Given the description of an element on the screen output the (x, y) to click on. 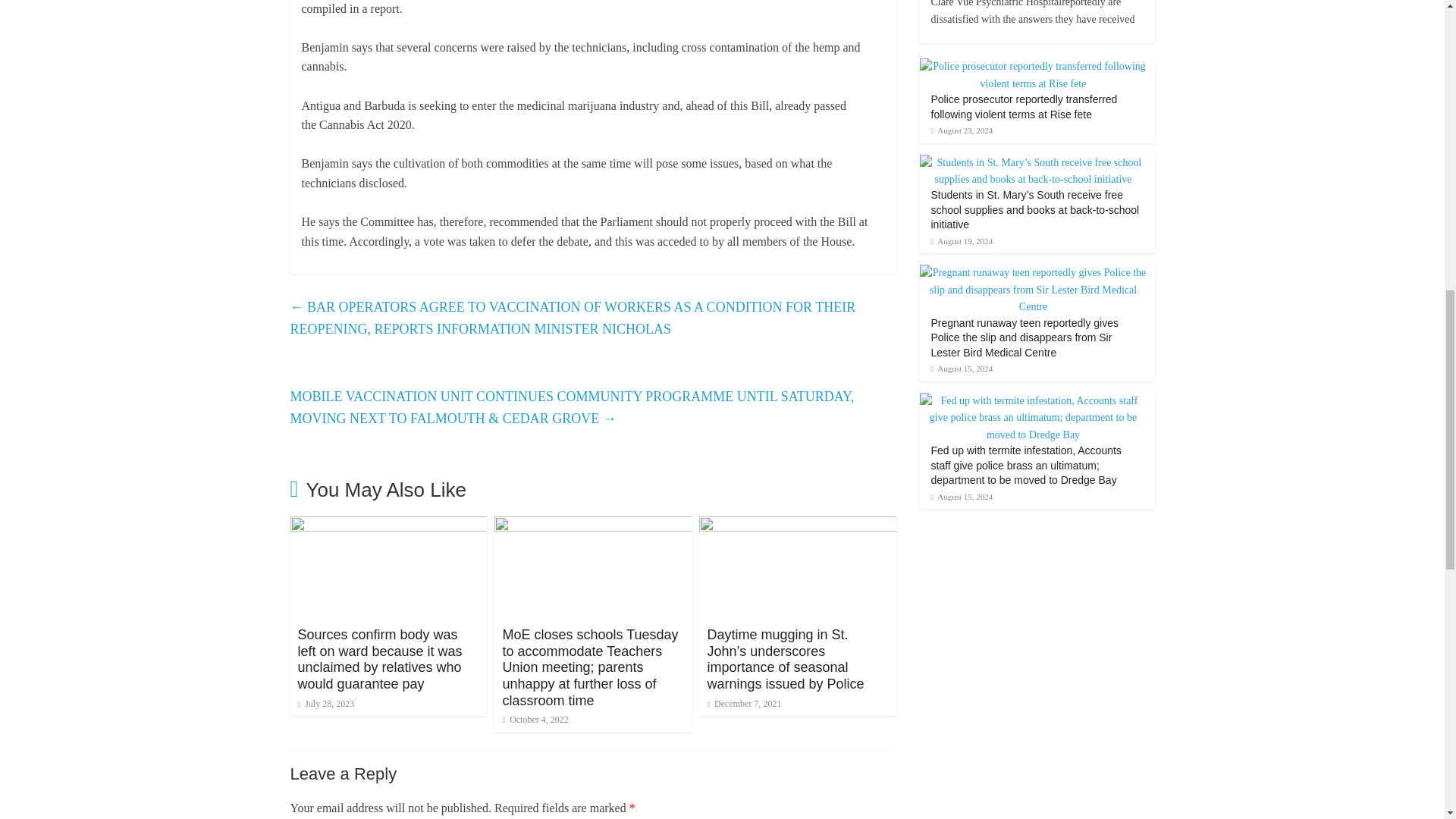
7:40 pm (325, 703)
